Given the description of an element on the screen output the (x, y) to click on. 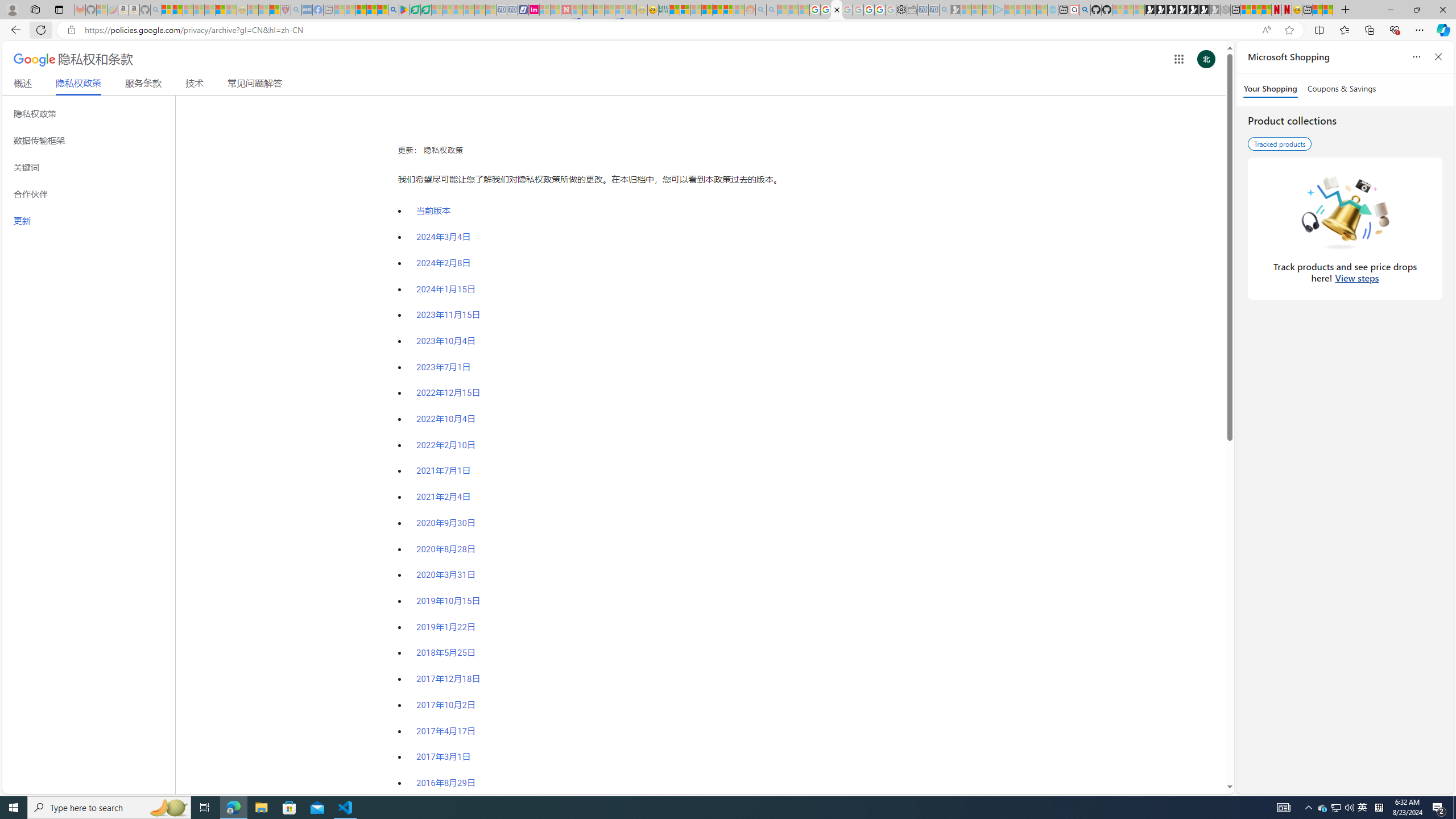
Kinda Frugal - MSN (717, 9)
